Given the description of an element on the screen output the (x, y) to click on. 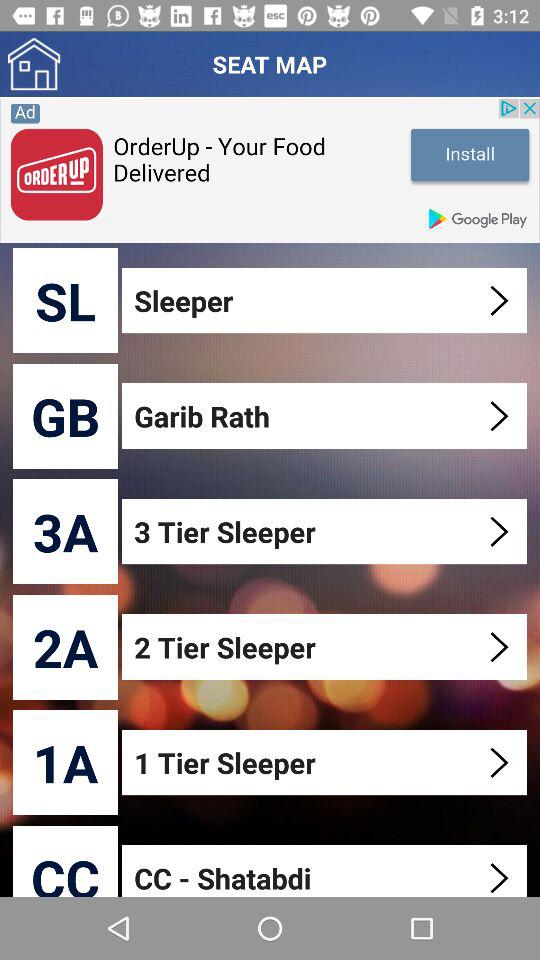
home button (33, 63)
